Given the description of an element on the screen output the (x, y) to click on. 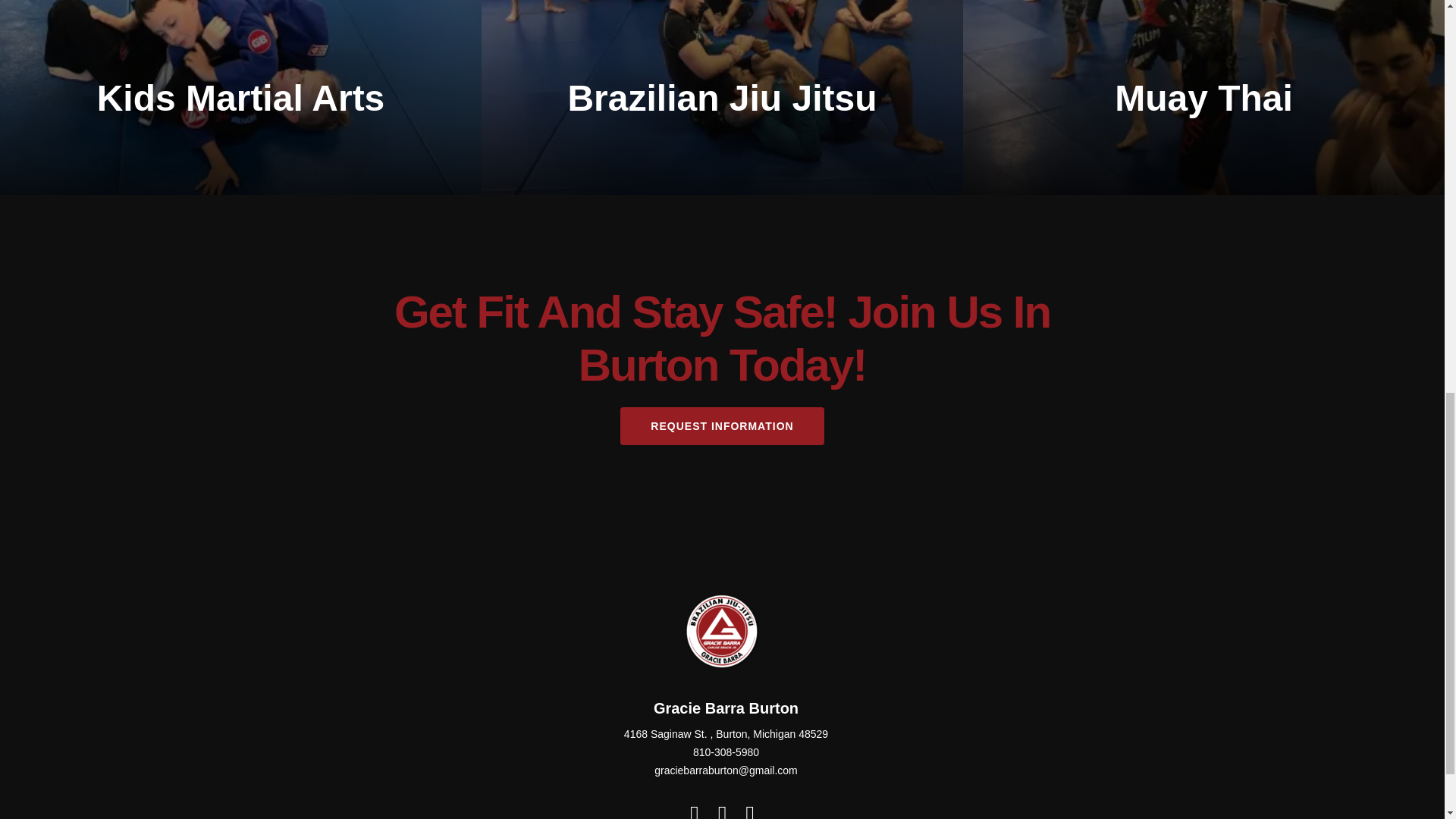
Brazilian Jiu Jitsu (721, 97)
Kids Martial Arts (240, 97)
